Given the description of an element on the screen output the (x, y) to click on. 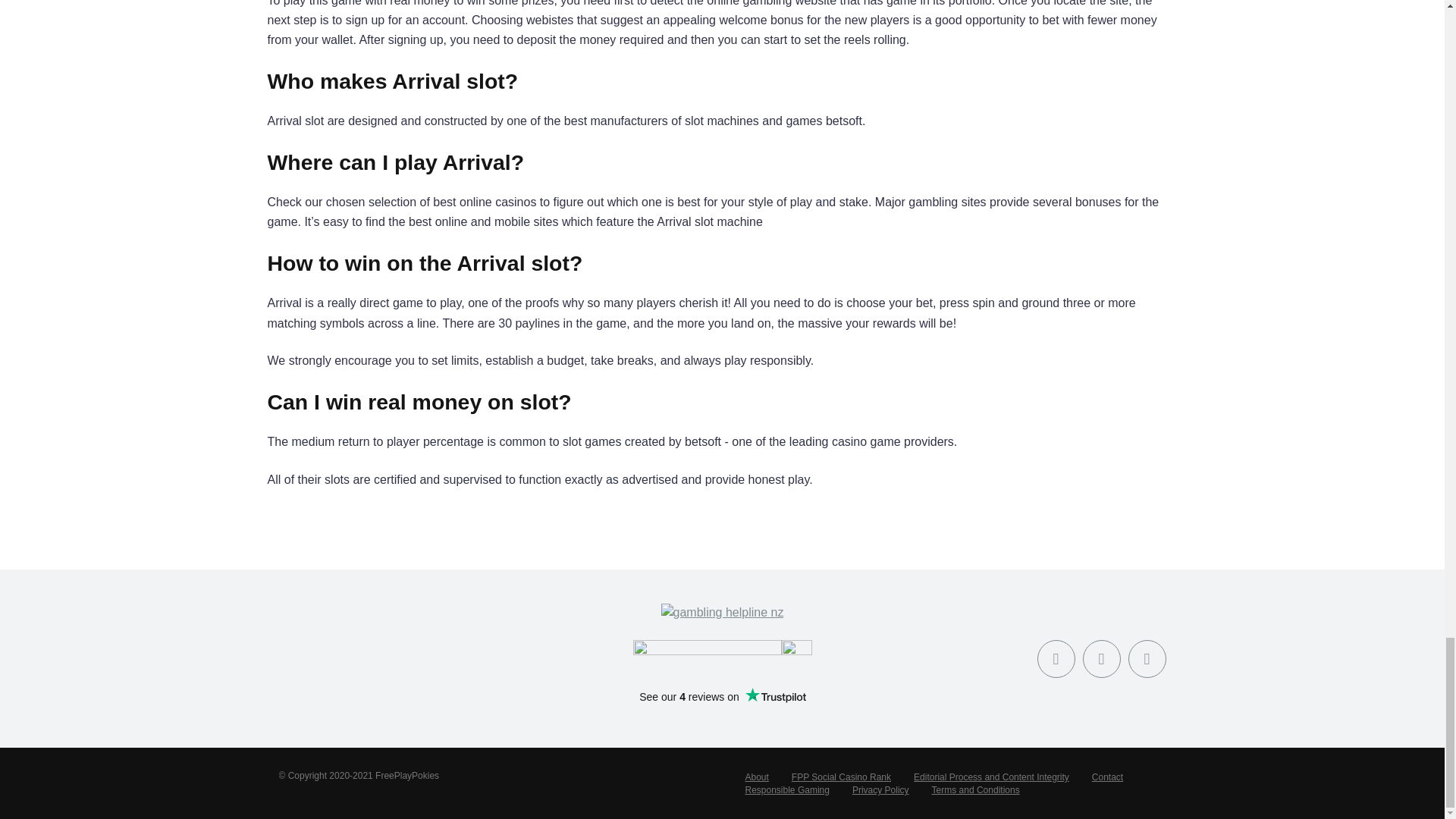
Twitter (1102, 658)
LinkedIn (1147, 658)
Facebook (1055, 658)
Customer reviews powered by Trustpilot (721, 700)
